Given the description of an element on the screen output the (x, y) to click on. 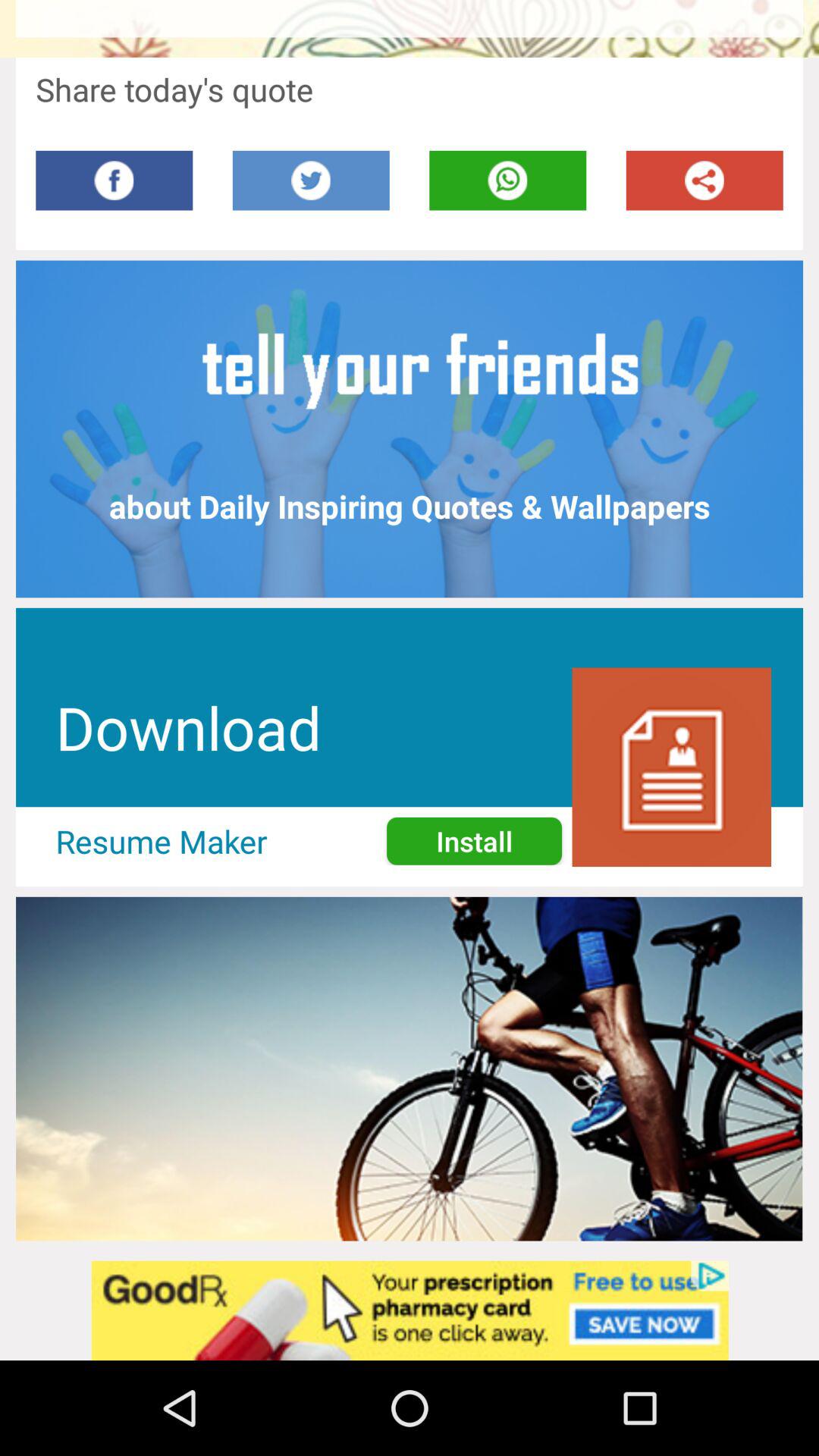
mobile option (507, 180)
